Given the description of an element on the screen output the (x, y) to click on. 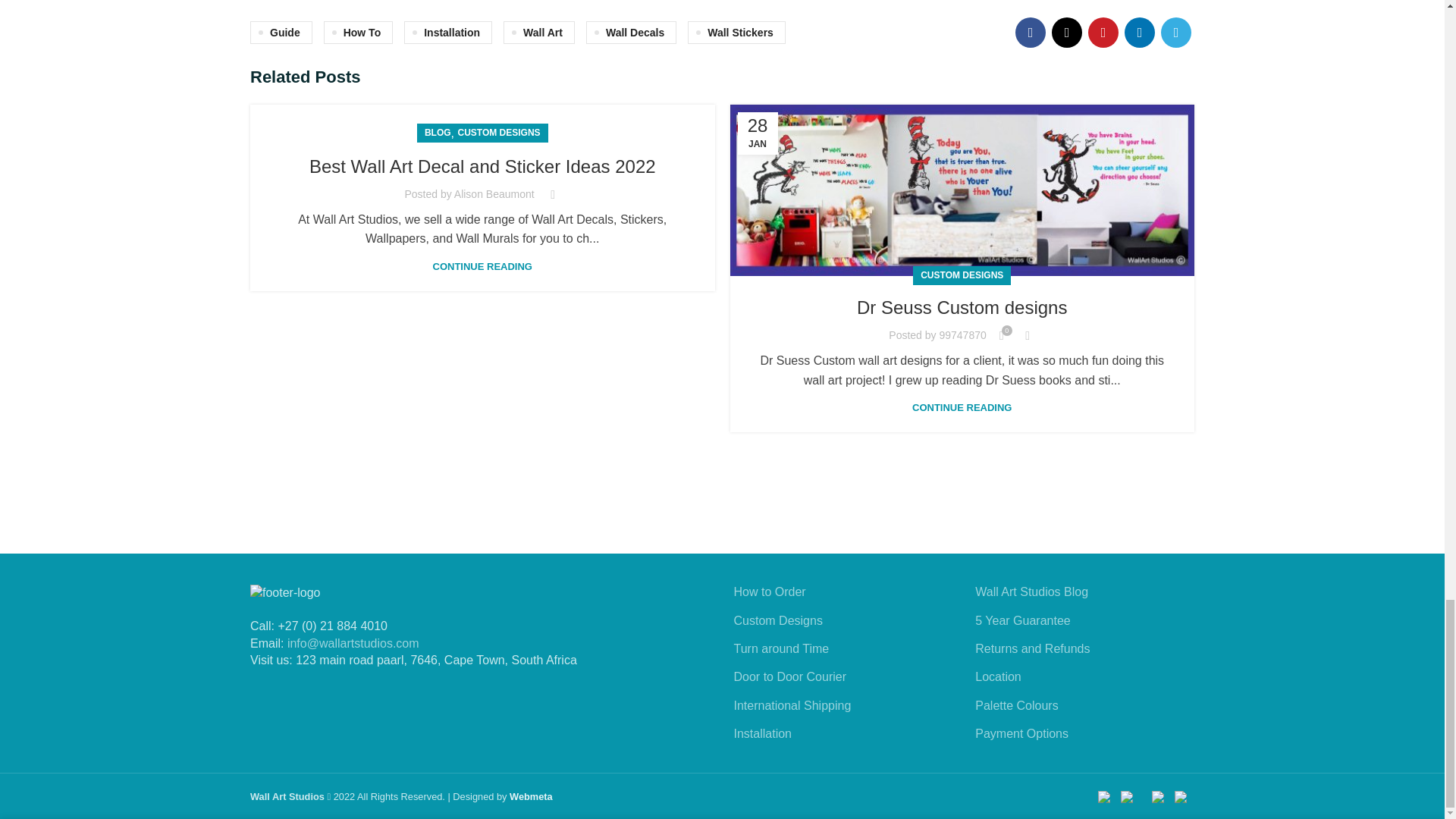
CUSTOM DESIGNS (498, 132)
BLOG (438, 132)
How To (358, 32)
Wall Decals (631, 32)
Wall Stickers (736, 32)
Guide (281, 32)
Installation (448, 32)
Wall Art (539, 32)
